Given the description of an element on the screen output the (x, y) to click on. 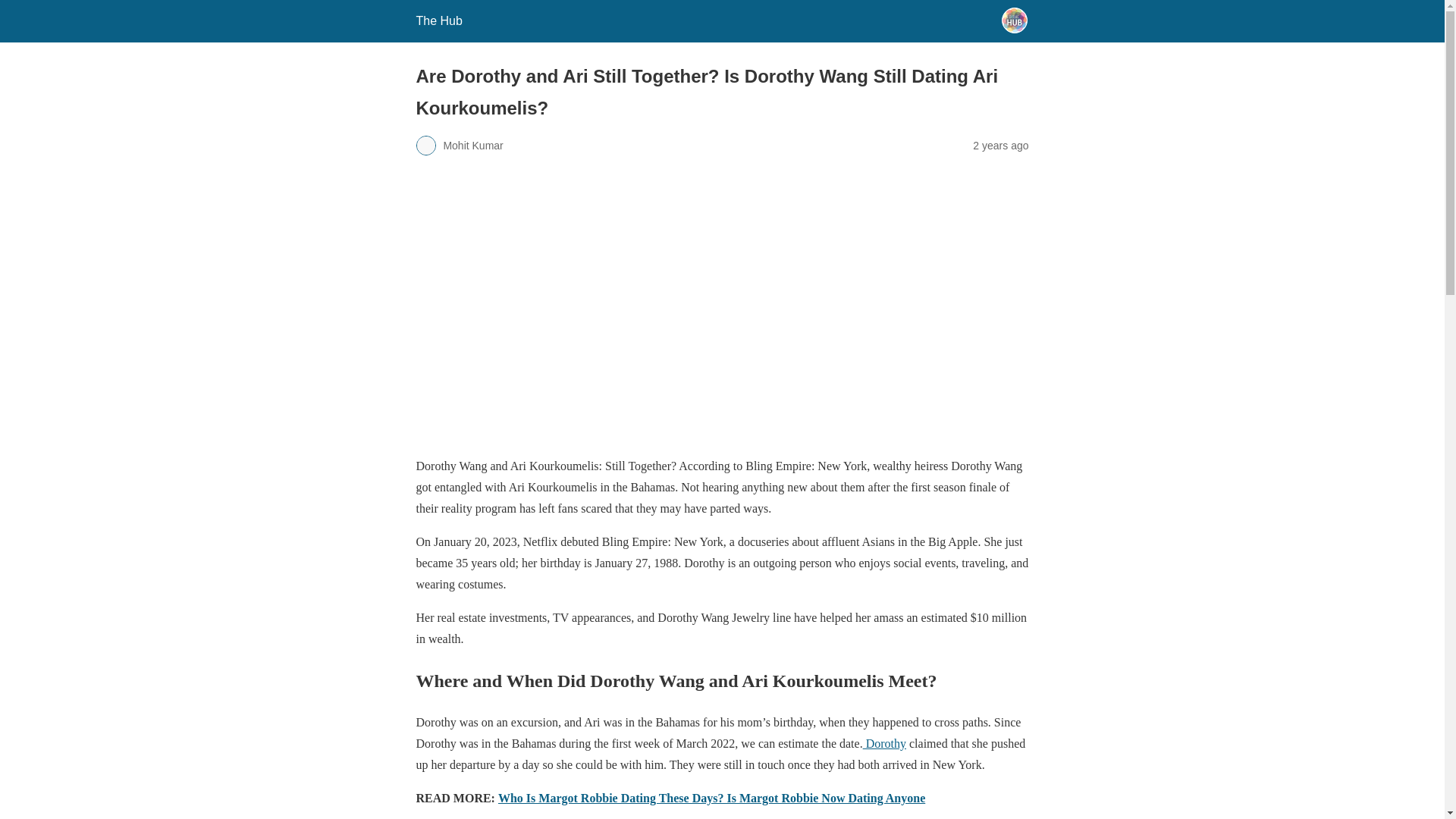
The Hub (437, 20)
Dorothy (884, 743)
